Given the description of an element on the screen output the (x, y) to click on. 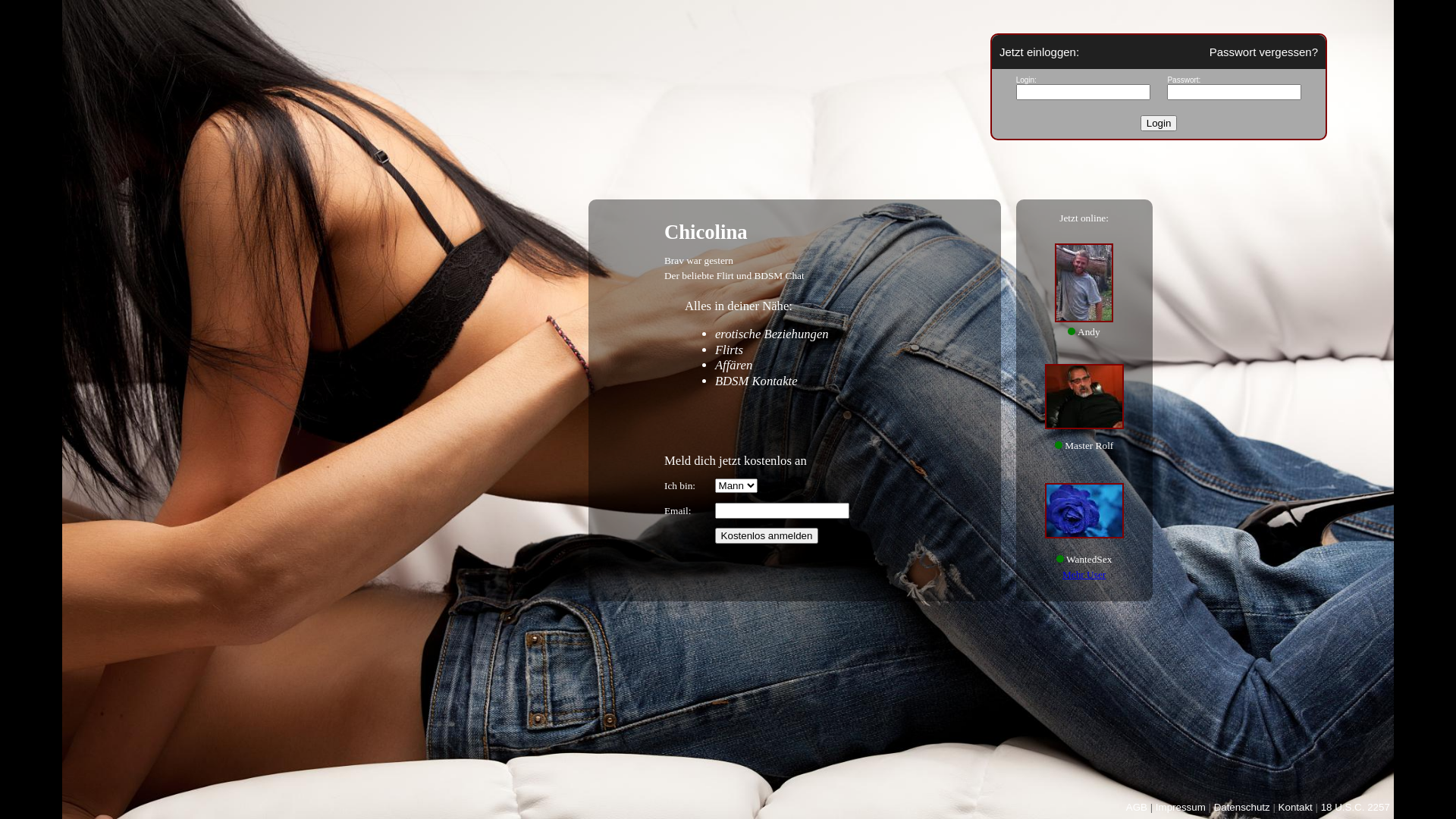
Datenschutz Element type: text (1242, 806)
AGB Element type: text (1136, 806)
Passwort vergessen? Element type: text (1263, 51)
18 U.S.C. 2257 Element type: text (1355, 806)
Kostenlos anmelden Element type: text (767, 535)
Andy Element type: text (1084, 282)
Impressum Element type: text (1180, 806)
Login Element type: text (1158, 123)
Master Rolf Element type: text (1084, 396)
WantedSex Element type: text (1084, 510)
Kontakt Element type: text (1295, 806)
Mehr User Element type: text (1083, 574)
